Given the description of an element on the screen output the (x, y) to click on. 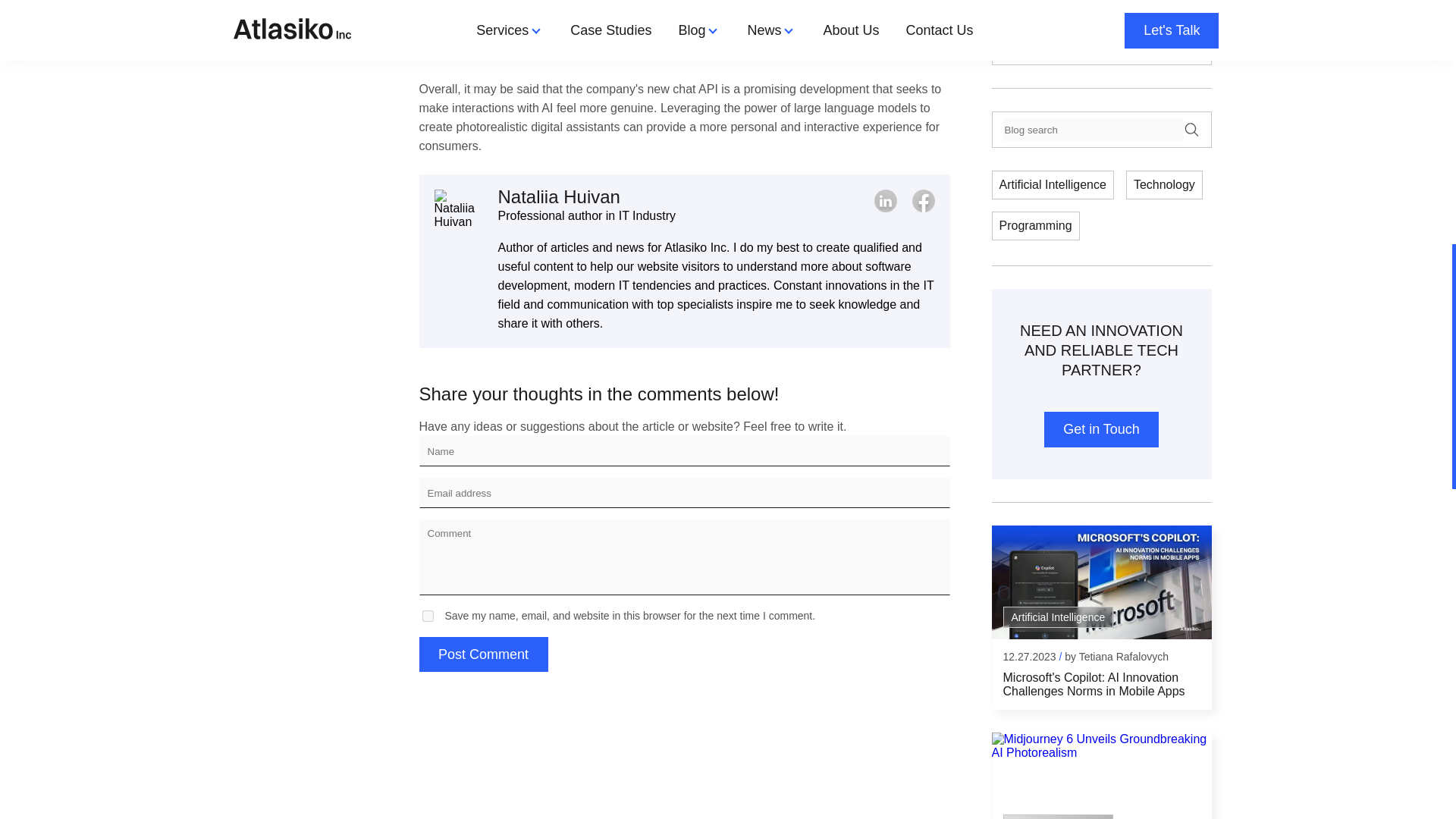
on (427, 615)
Nataliia Huivan (457, 213)
